Given the description of an element on the screen output the (x, y) to click on. 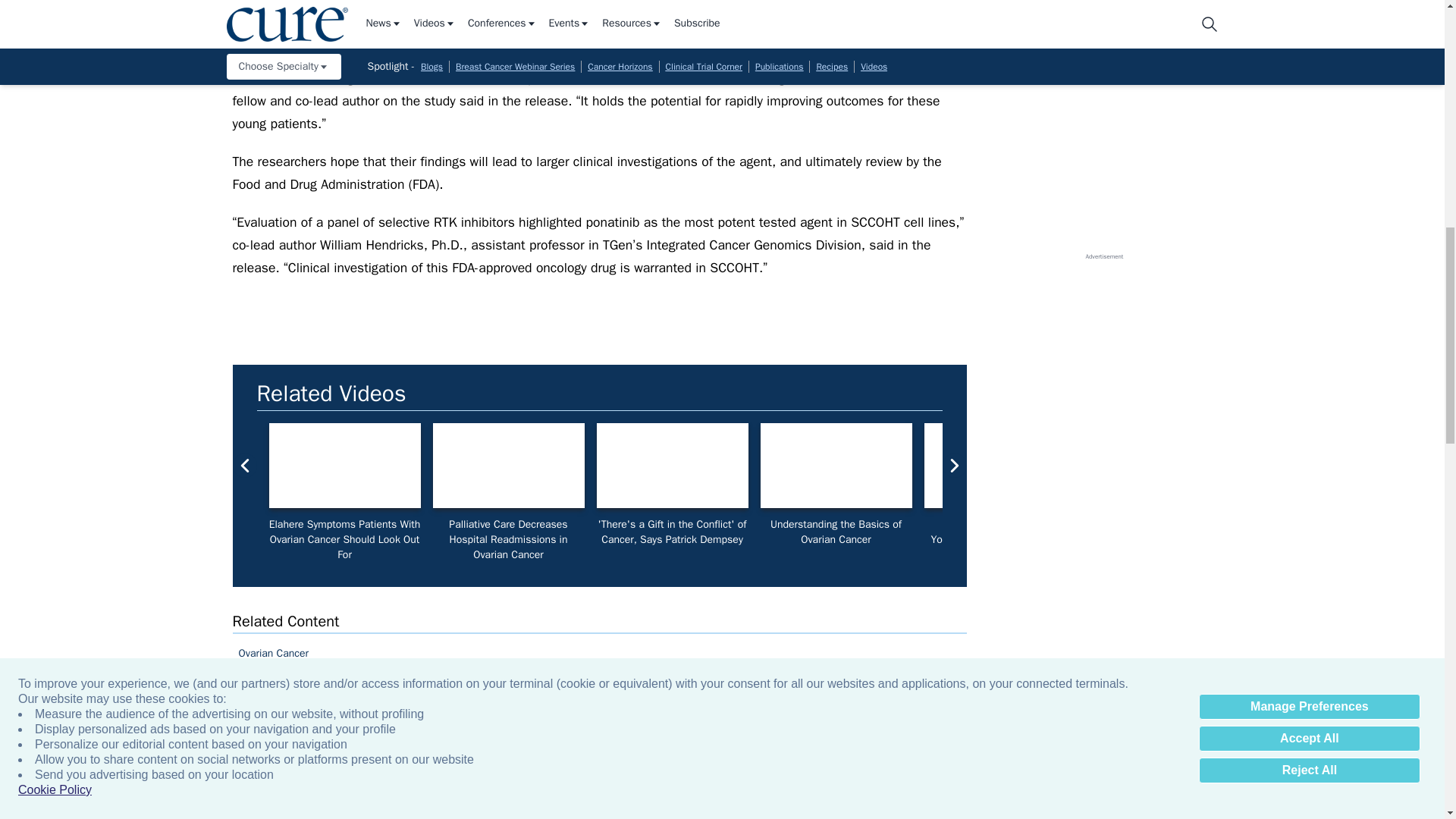
Ovarian Cancer Heroes 2020 (1326, 465)
Kristie L. Kahl and Dr. Debra Richardson (835, 465)
